Given the description of an element on the screen output the (x, y) to click on. 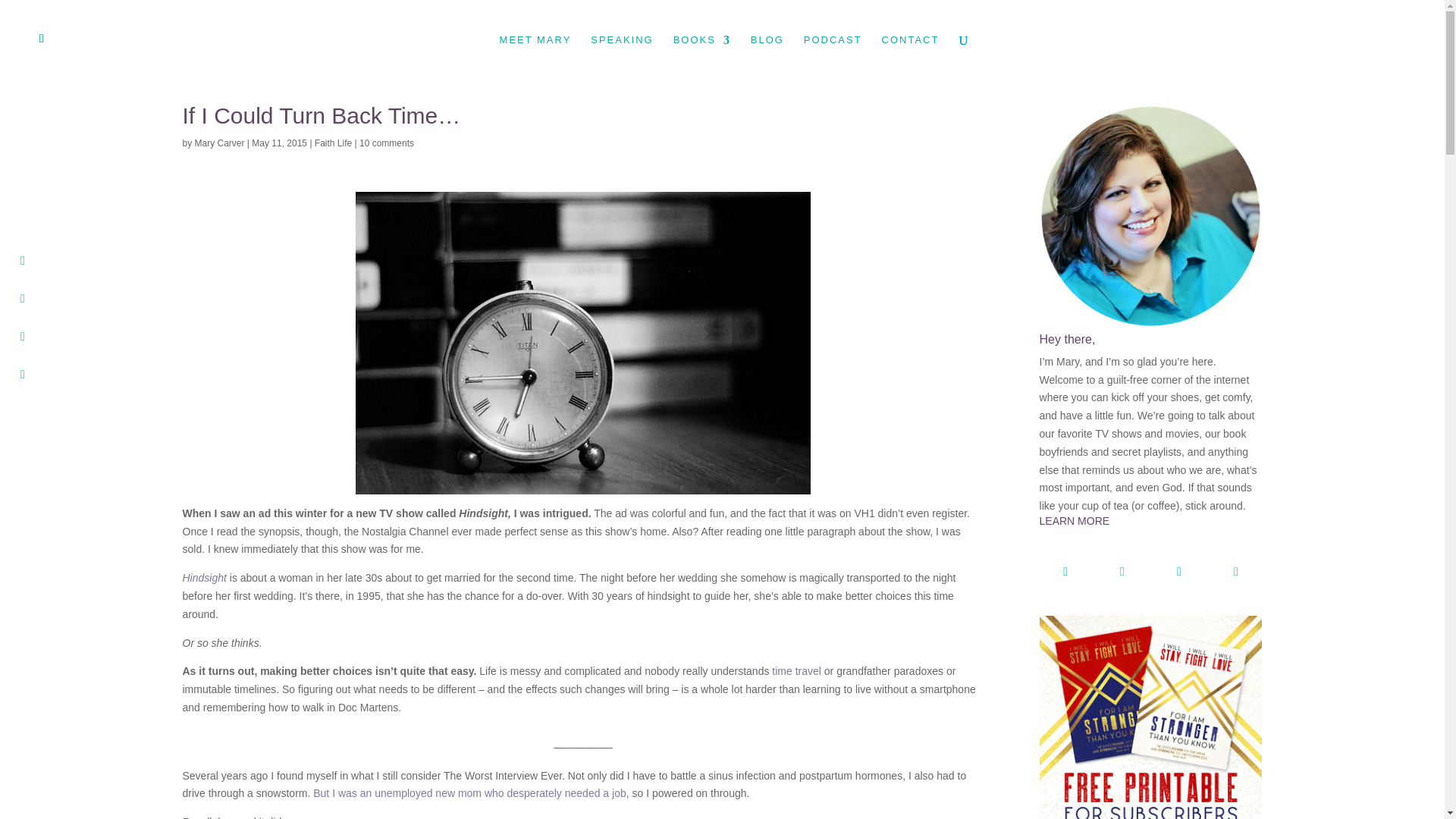
Faith Life (333, 143)
CONTACT (910, 57)
Posts by Mary Carver (219, 143)
time travel (796, 671)
But I was an unemployed new mom who desperately needed a job (469, 793)
MEET MARY (535, 57)
Hindsight (203, 577)
Mary Carver (219, 143)
BOOKS (701, 57)
SPEAKING (621, 57)
